Given the description of an element on the screen output the (x, y) to click on. 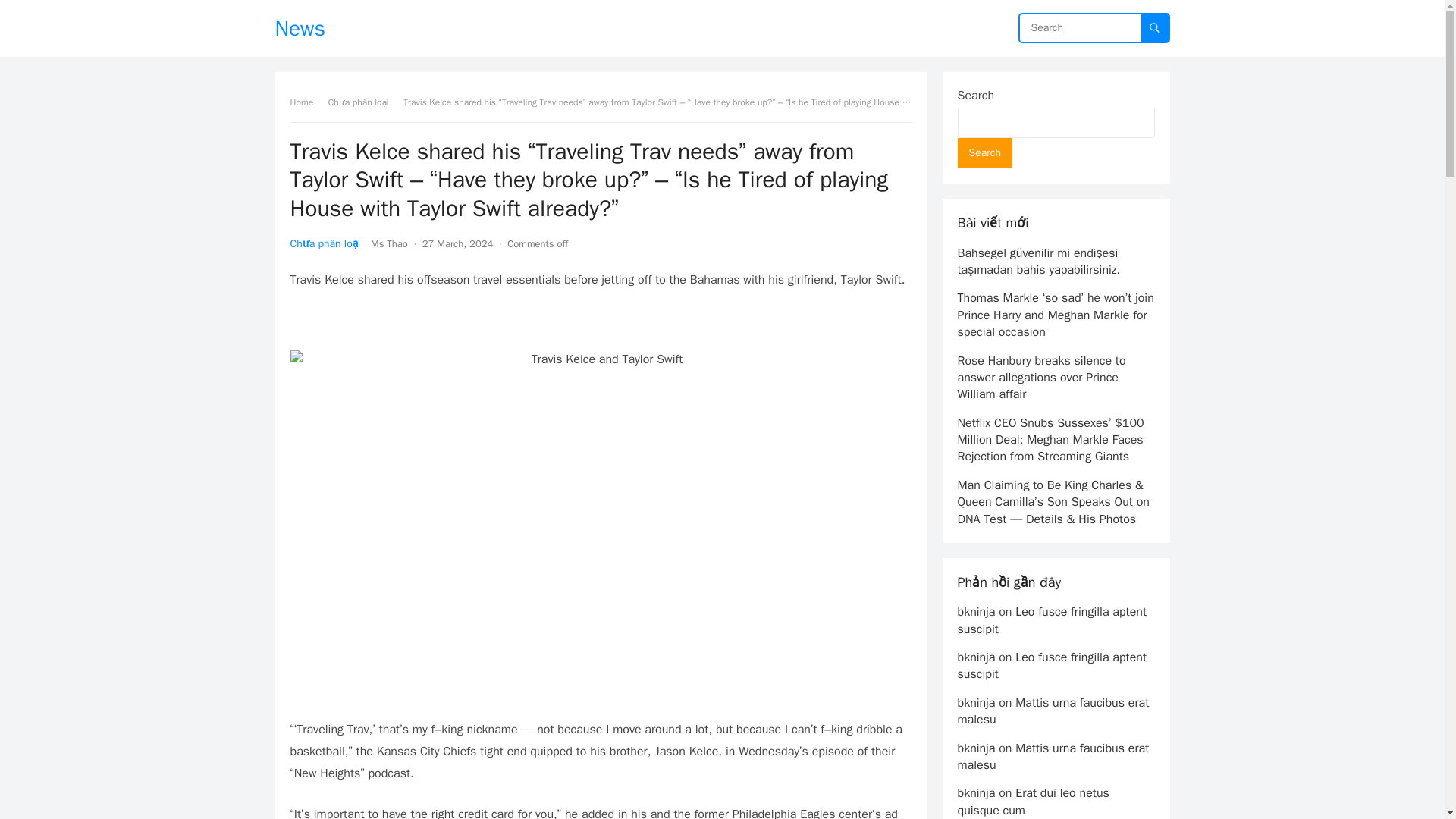
News (299, 28)
Home (306, 102)
Ms Thao (389, 243)
Posts by Ms Thao (389, 243)
